Given the description of an element on the screen output the (x, y) to click on. 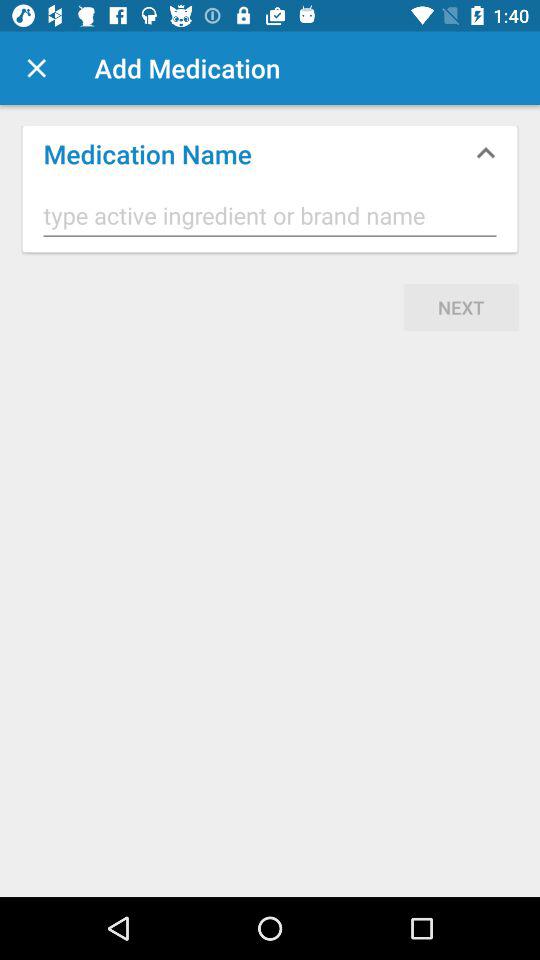
choose next item (461, 307)
